Given the description of an element on the screen output the (x, y) to click on. 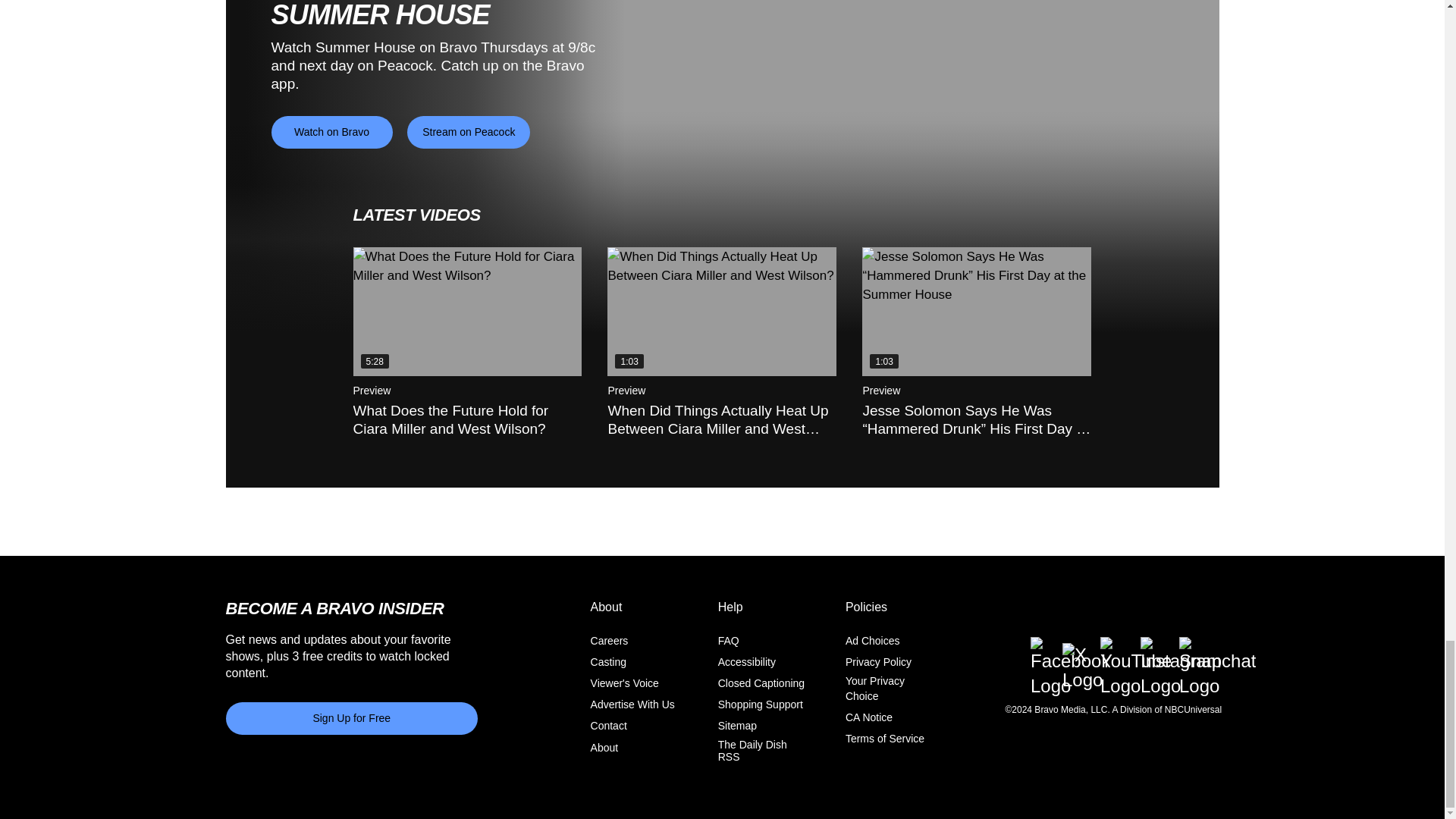
Advertise With Us (633, 704)
What Does the Future Hold for Ciara Miller and West Wilson? (467, 311)
